Given the description of an element on the screen output the (x, y) to click on. 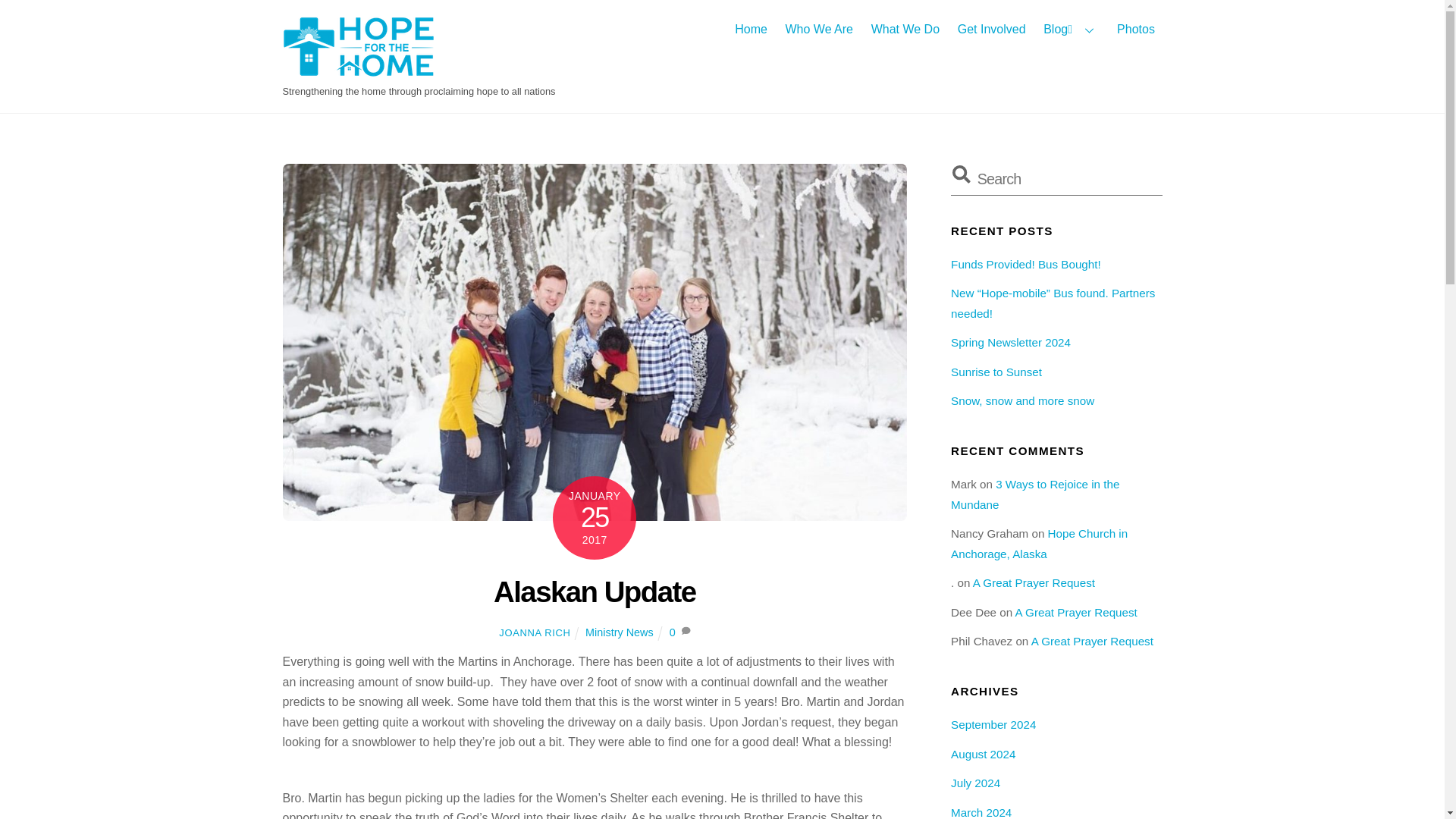
Snow, snow and more snow (1022, 400)
Alaskan Update (594, 591)
Spring Newsletter 2024 (1010, 341)
Ministry News (619, 632)
JOANNA RICH (534, 632)
Sunrise to Sunset (996, 371)
Search (1055, 178)
Photos (1135, 29)
Get Involved (991, 29)
